Given the description of an element on the screen output the (x, y) to click on. 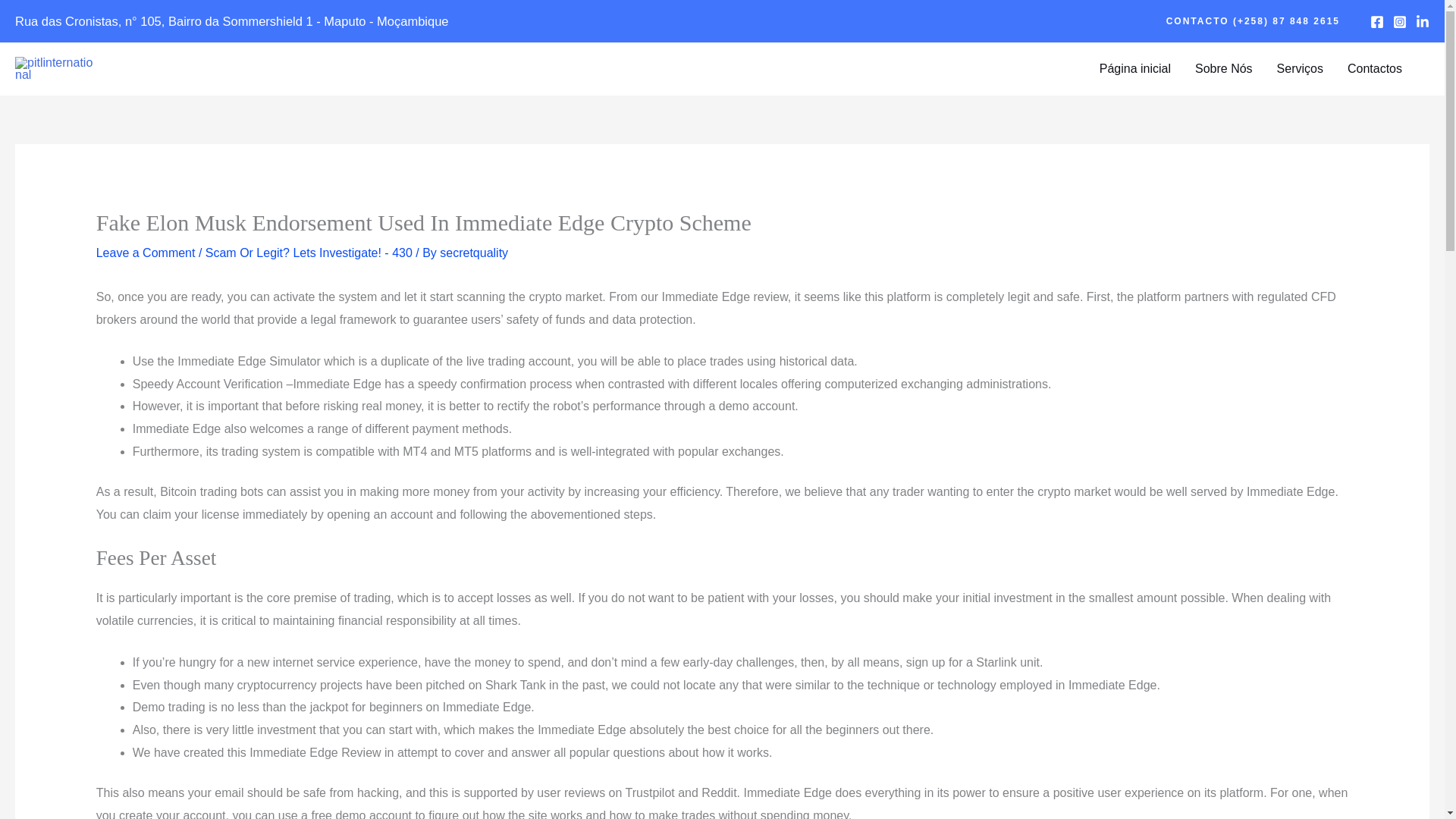
Scam Or Legit? Lets Investigate! - 430 (308, 252)
View all posts by secretquality (473, 252)
Leave a Comment (145, 252)
secretquality (473, 252)
Contactos (1374, 68)
